Given the description of an element on the screen output the (x, y) to click on. 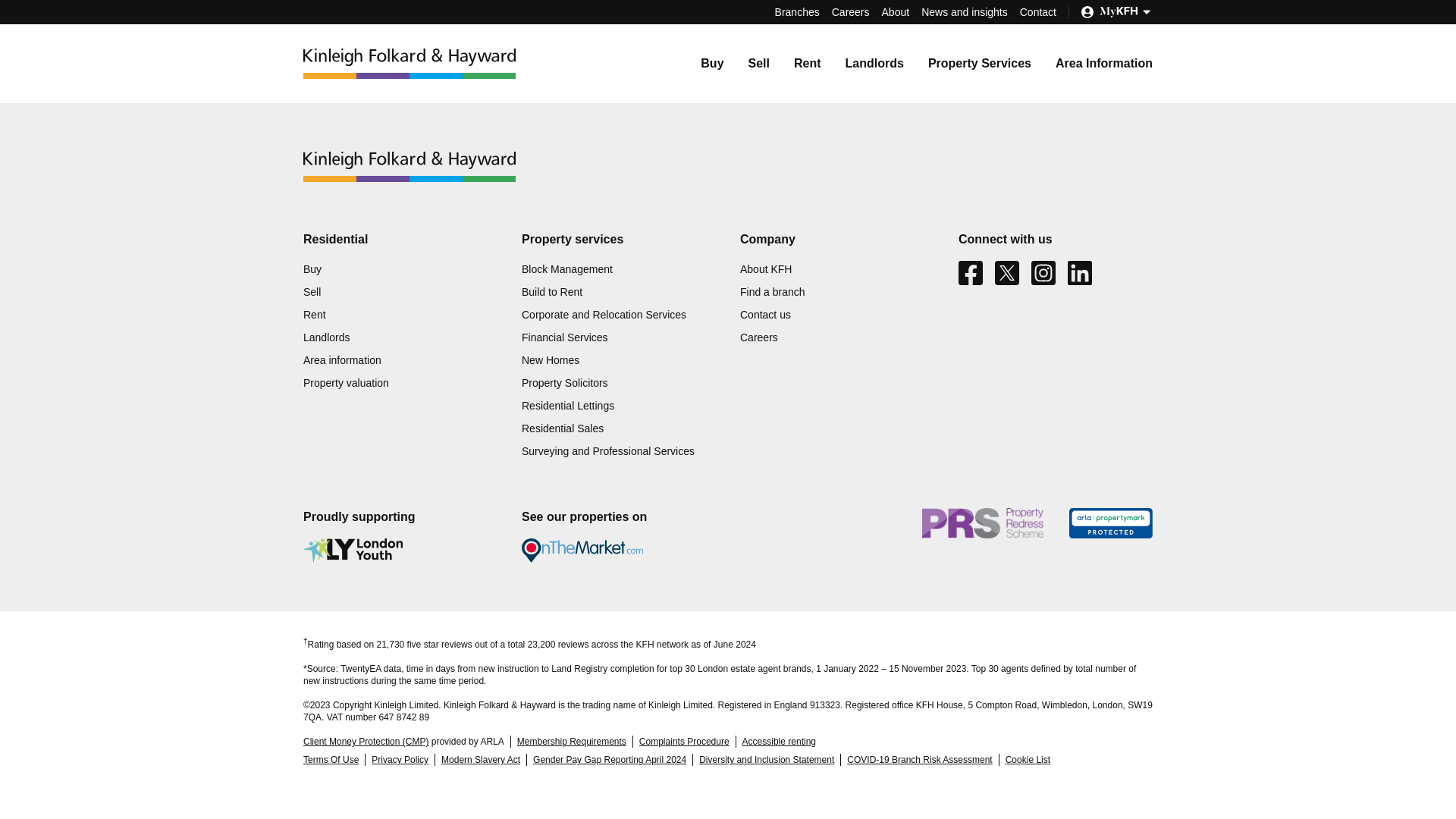
Branches (796, 11)
Property Services (979, 62)
Buy (711, 62)
Property valuation (345, 382)
Landlords (326, 337)
Rent (314, 314)
Build to Rent (551, 291)
Rent (807, 62)
About (896, 11)
Block Management (566, 268)
